Given the description of an element on the screen output the (x, y) to click on. 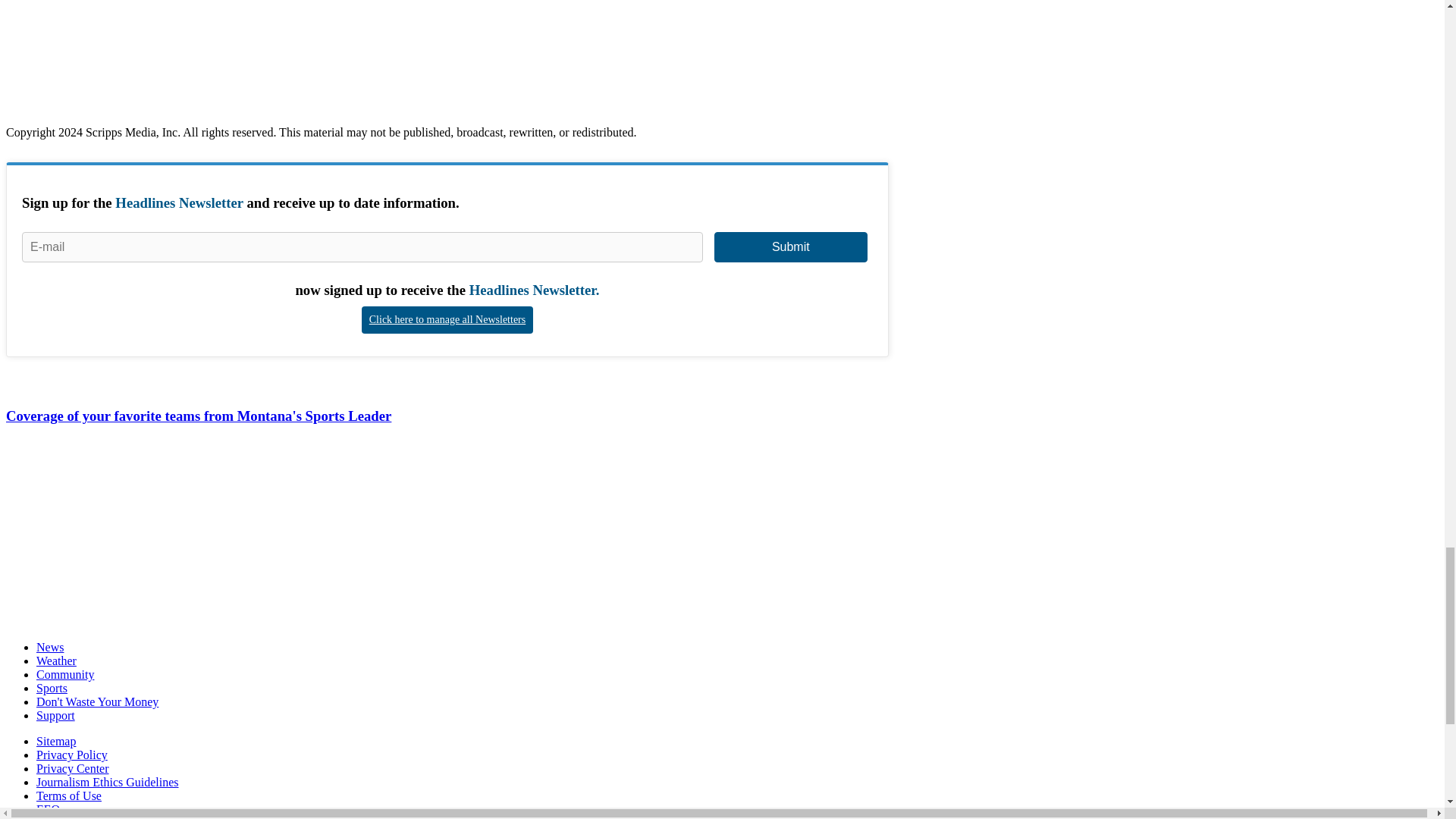
Submit (790, 246)
3rd party ad content (118, 533)
